Given the description of an element on the screen output the (x, y) to click on. 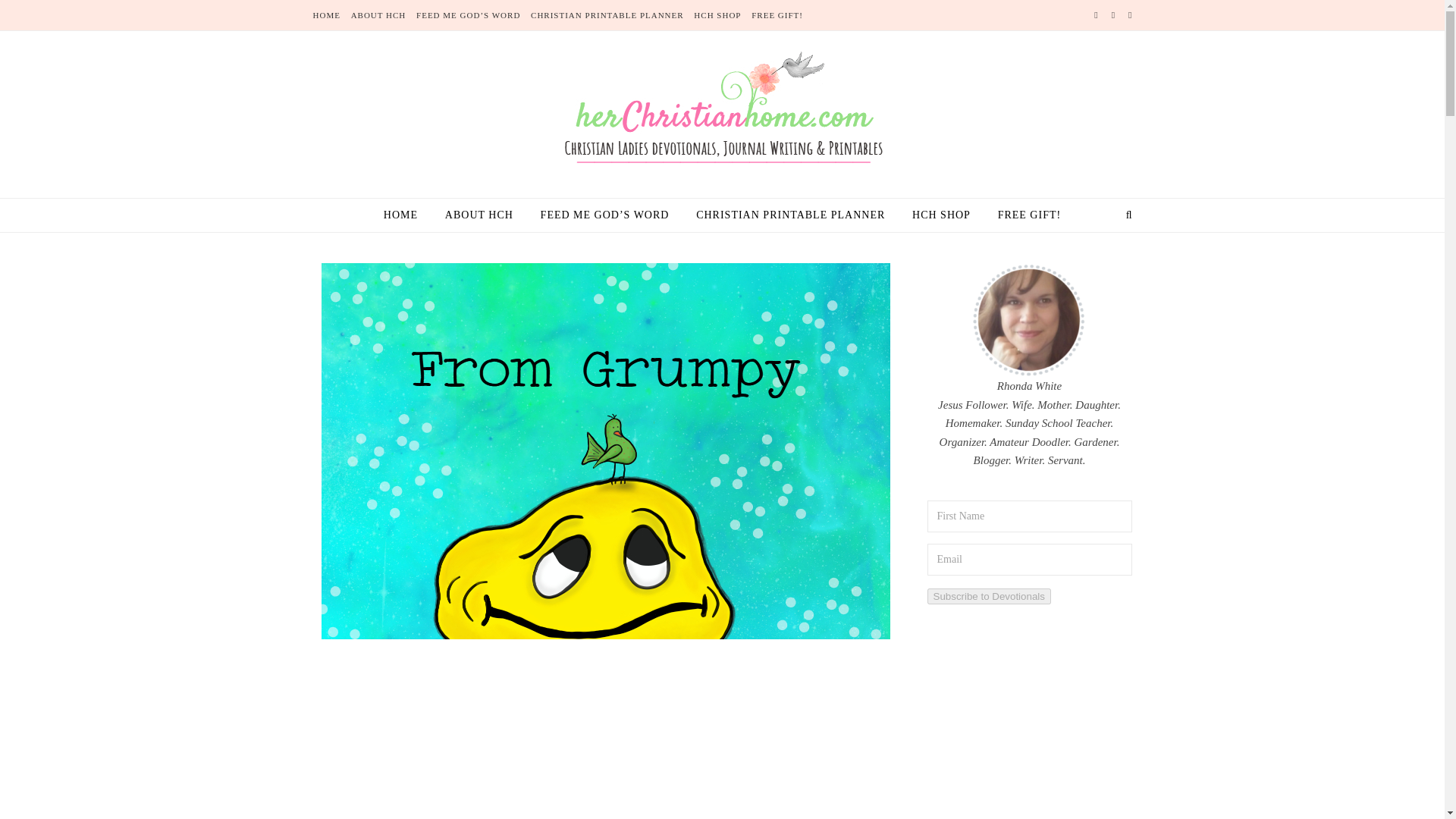
HOME (406, 215)
ABOUT HCH (478, 215)
FREE GIFT! (1023, 215)
HCH SHOP (940, 215)
FREE GIFT! (775, 15)
HCH SHOP (717, 15)
ABOUT HCH (378, 15)
CHRISTIAN PRINTABLE PLANNER (790, 215)
herChristianhome (721, 111)
CHRISTIAN PRINTABLE PLANNER (607, 15)
